Given the description of an element on the screen output the (x, y) to click on. 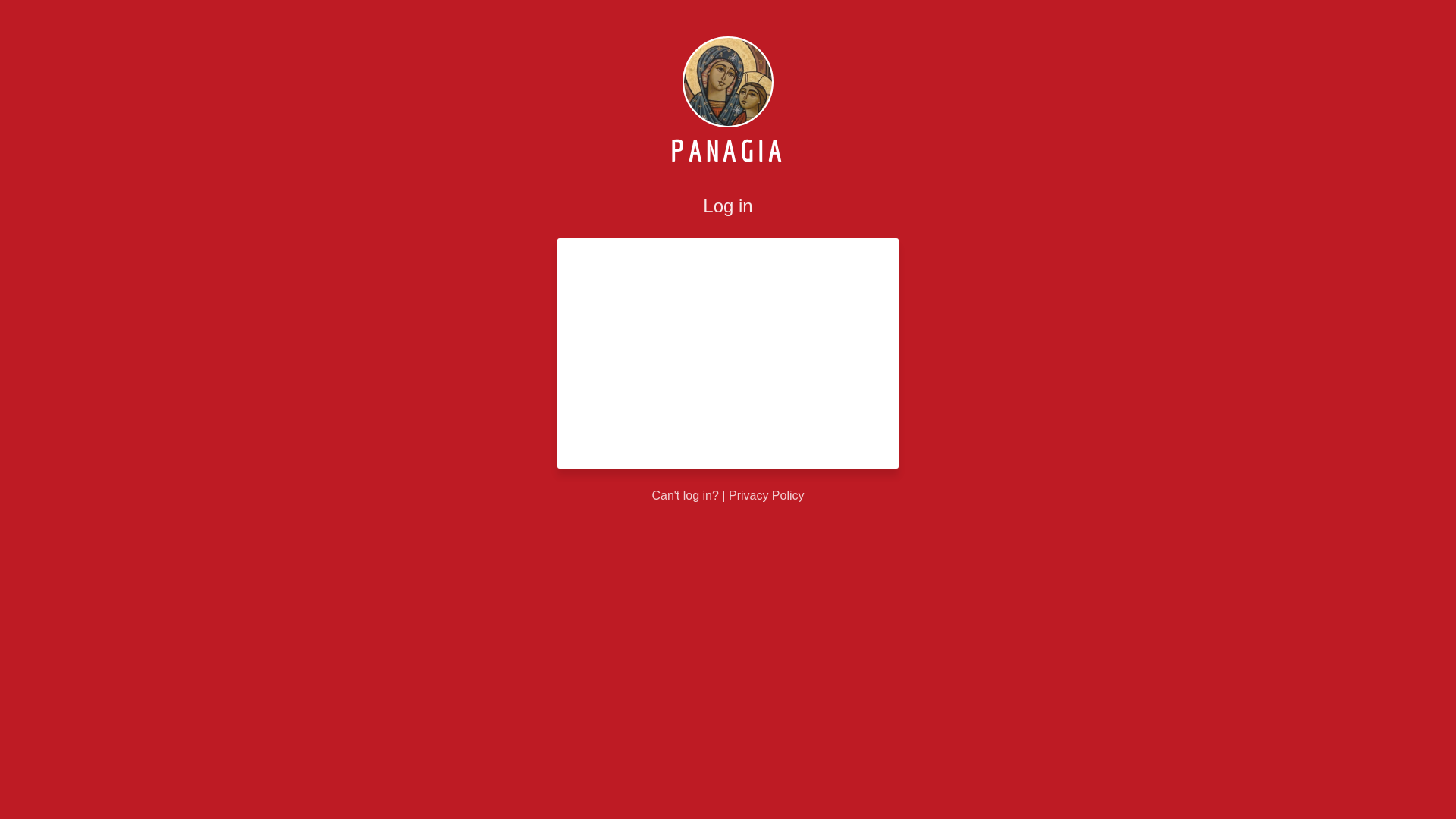
Privacy Policy Element type: text (766, 495)
Can't log in? Element type: text (684, 495)
